Given the description of an element on the screen output the (x, y) to click on. 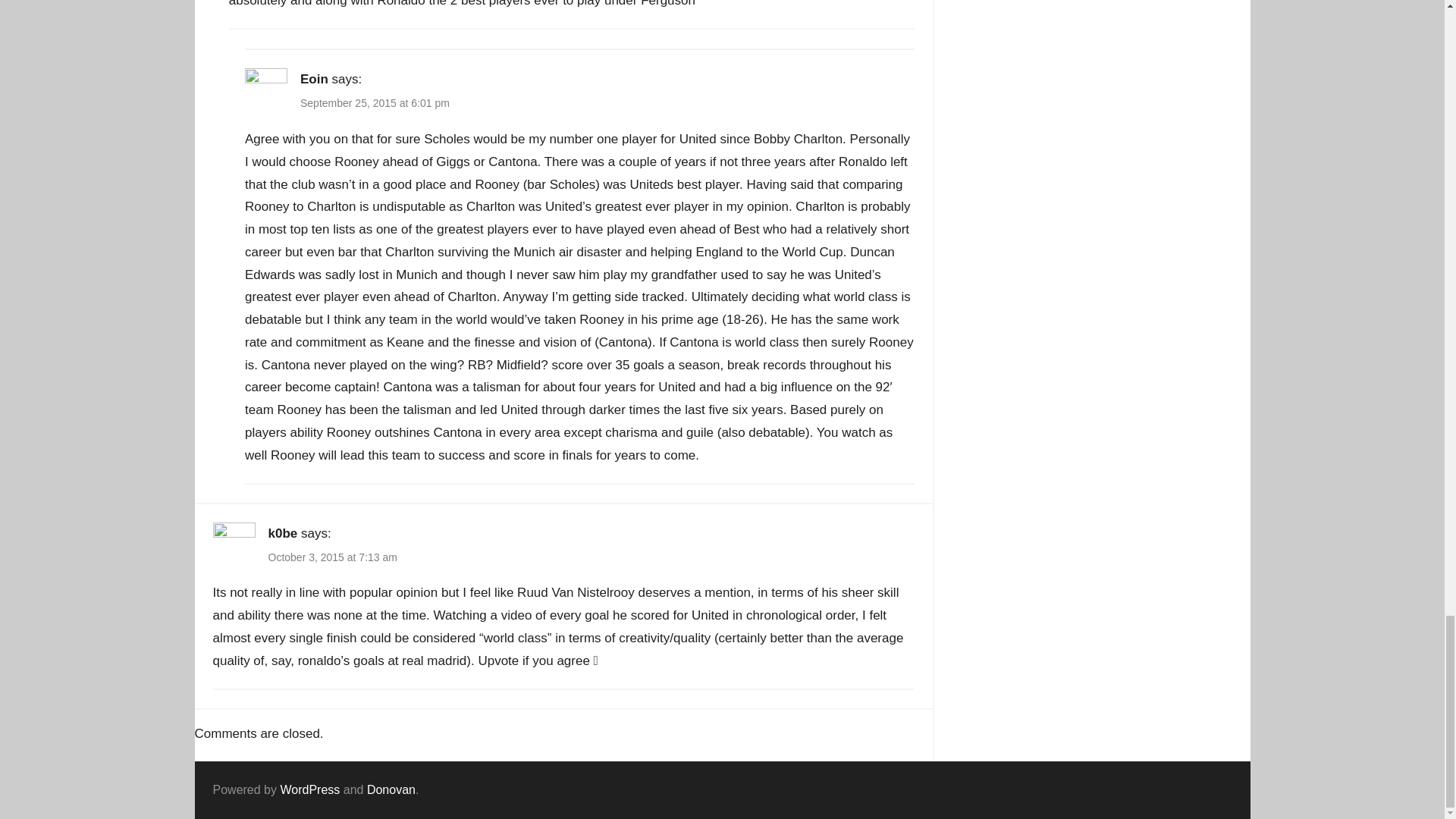
Donovan WordPress Theme (390, 789)
Donovan (390, 789)
WordPress (309, 789)
October 3, 2015 at 7:13 am (332, 557)
WordPress (309, 789)
September 25, 2015 at 6:01 pm (374, 102)
